Given the description of an element on the screen output the (x, y) to click on. 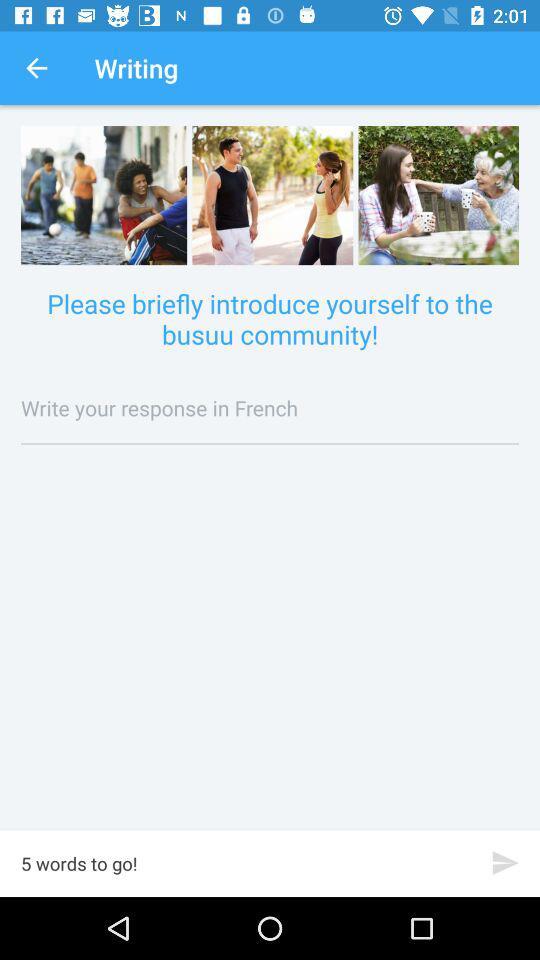
send/enter (505, 862)
